Given the description of an element on the screen output the (x, y) to click on. 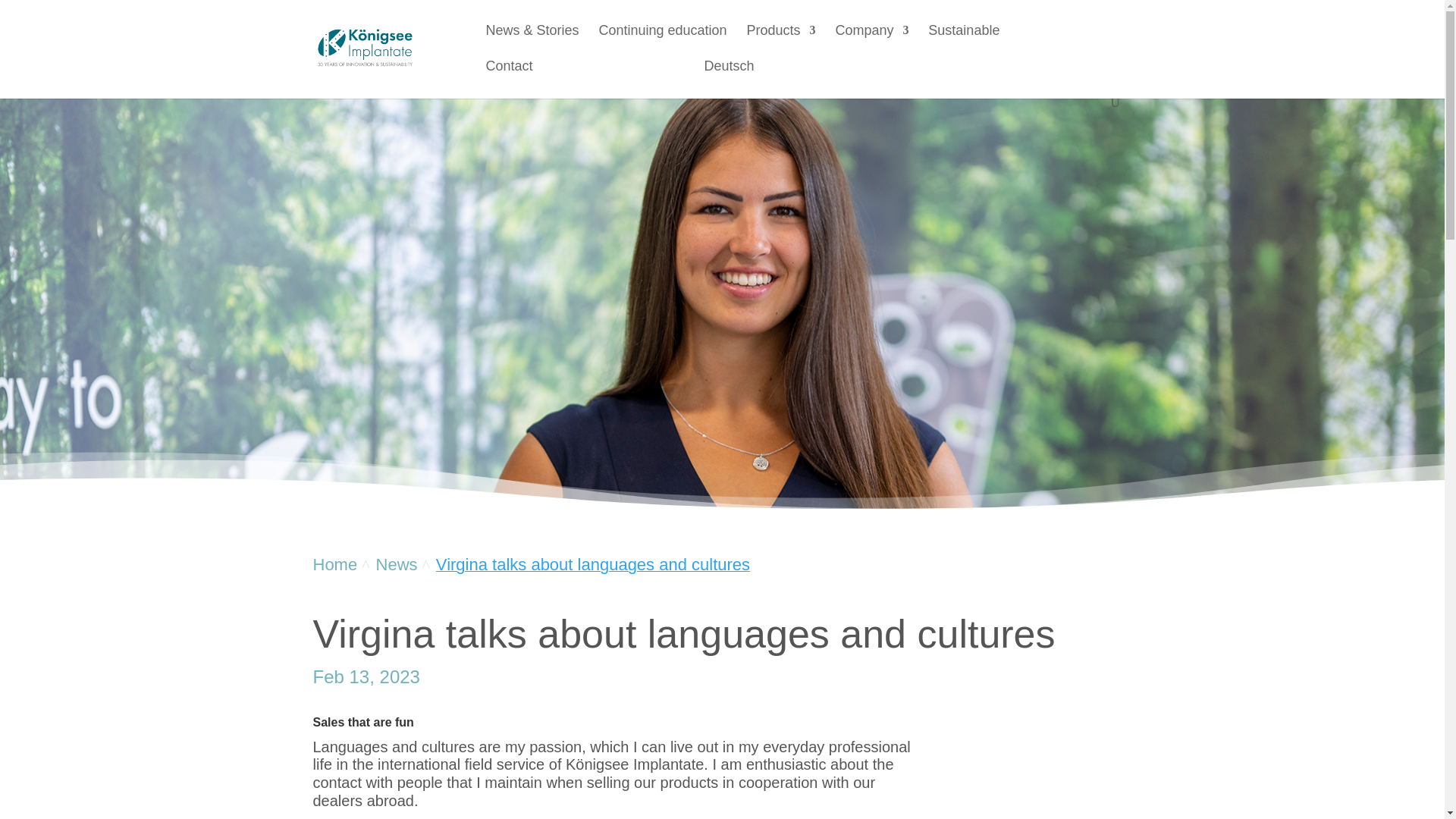
News (403, 566)
Virgina talks about languages and cultures (592, 566)
Products (780, 42)
Home (345, 566)
Deutsch (728, 78)
Deutsch (728, 78)
Company (871, 42)
Contact (508, 78)
Continuing education (662, 42)
Sustainable (963, 42)
